Given the description of an element on the screen output the (x, y) to click on. 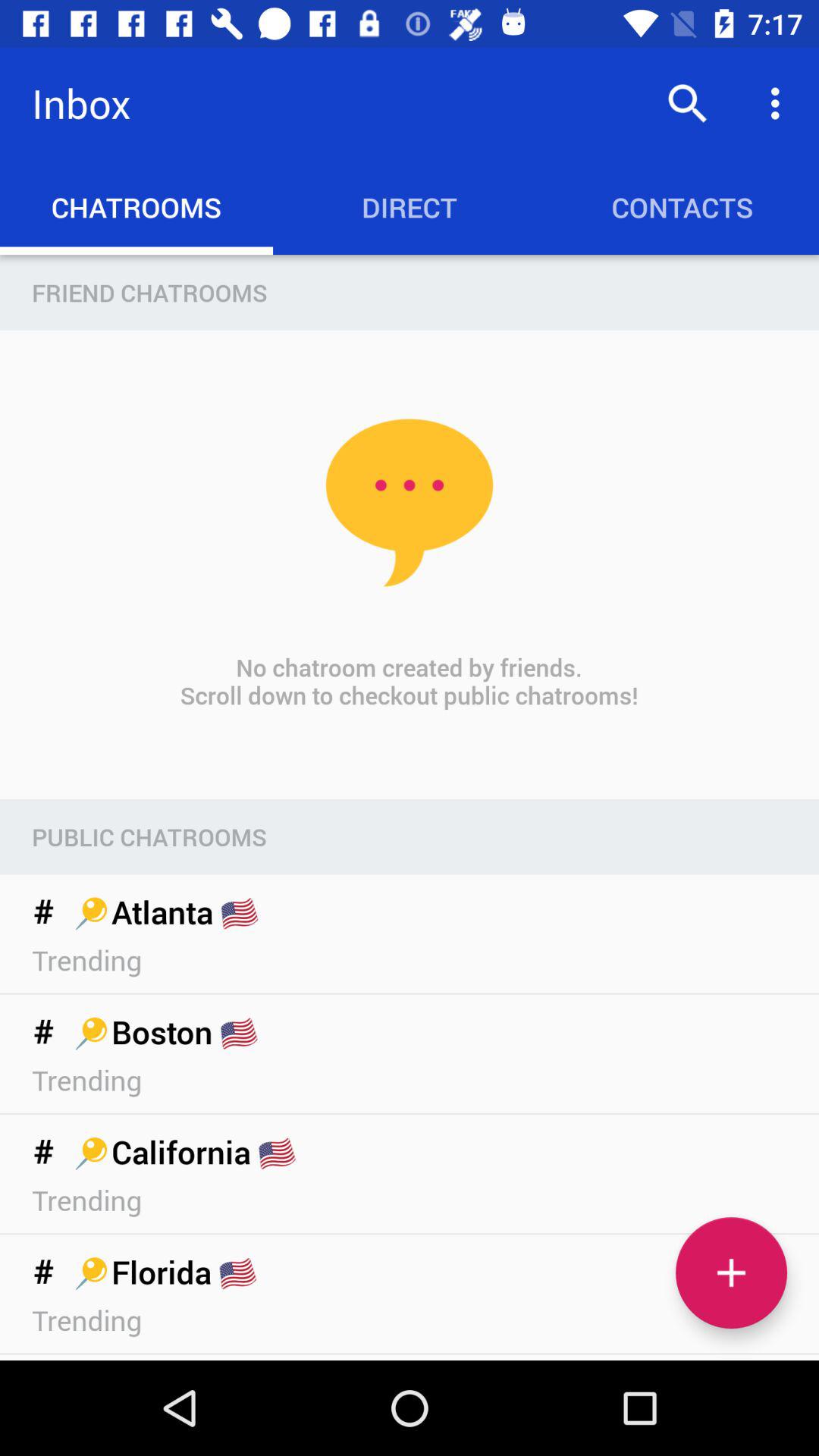
choose the item at the bottom right corner (731, 1272)
